Given the description of an element on the screen output the (x, y) to click on. 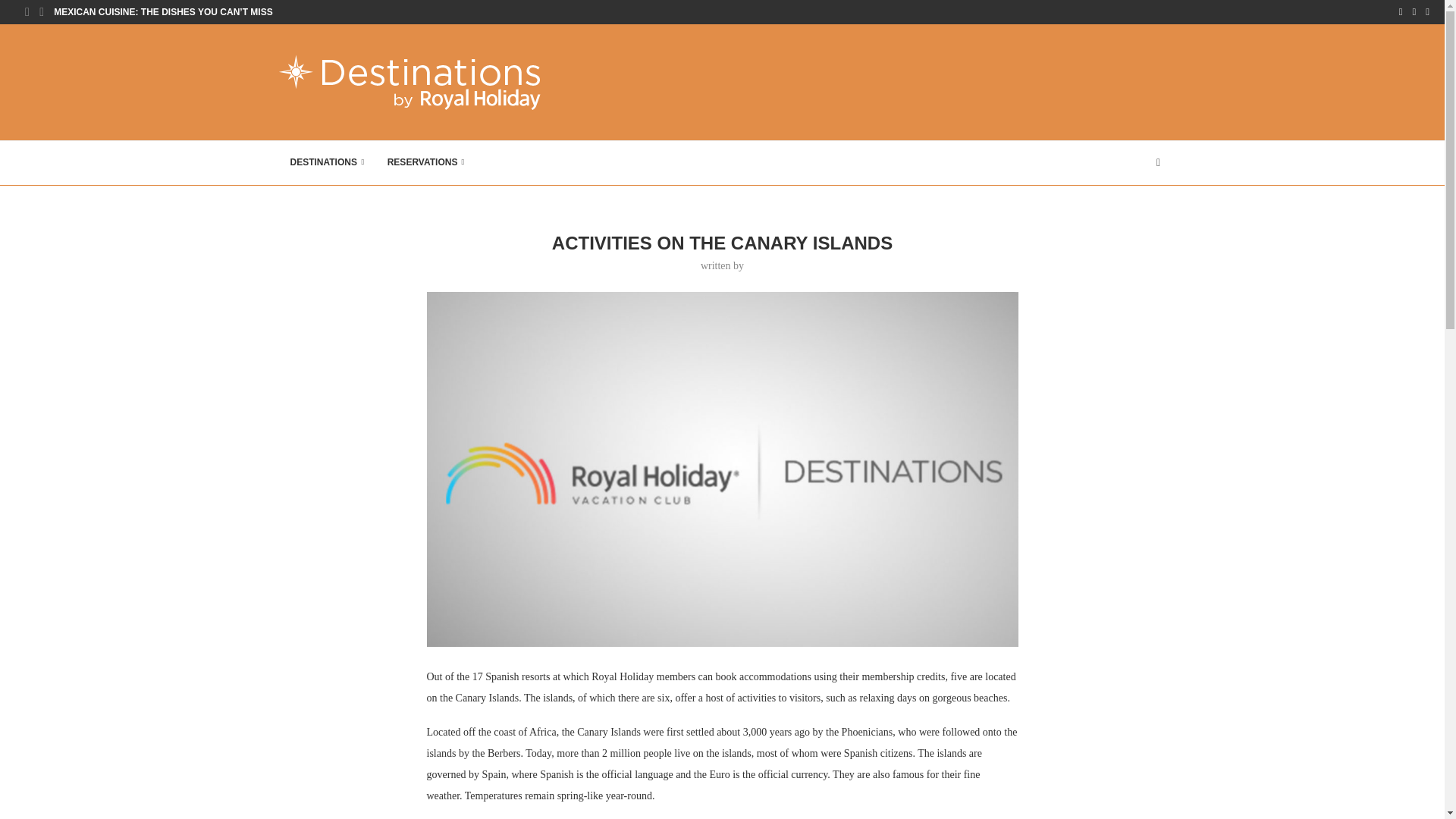
DESTINATIONS (327, 162)
